Given the description of an element on the screen output the (x, y) to click on. 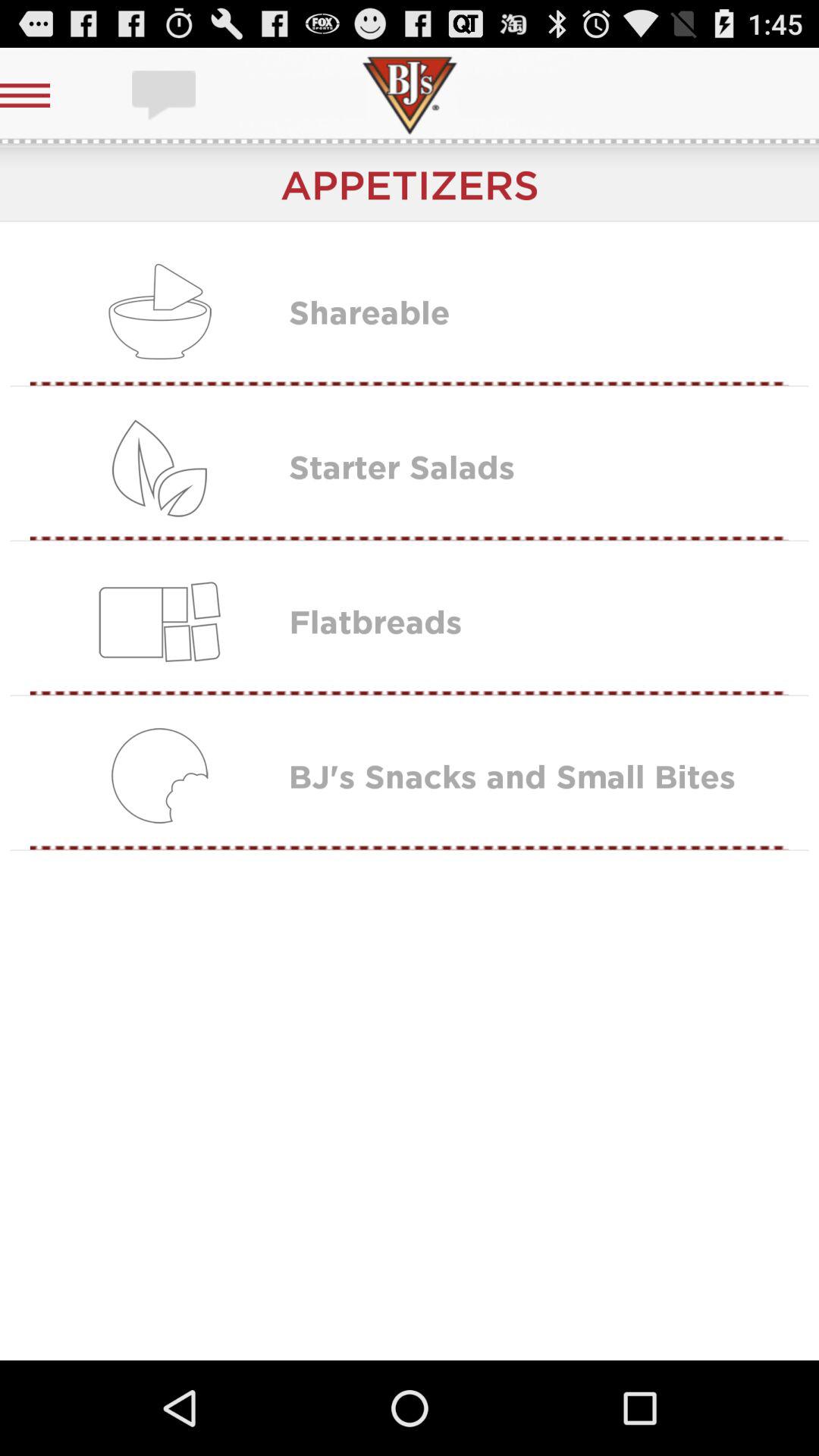
messages (165, 95)
